Given the description of an element on the screen output the (x, y) to click on. 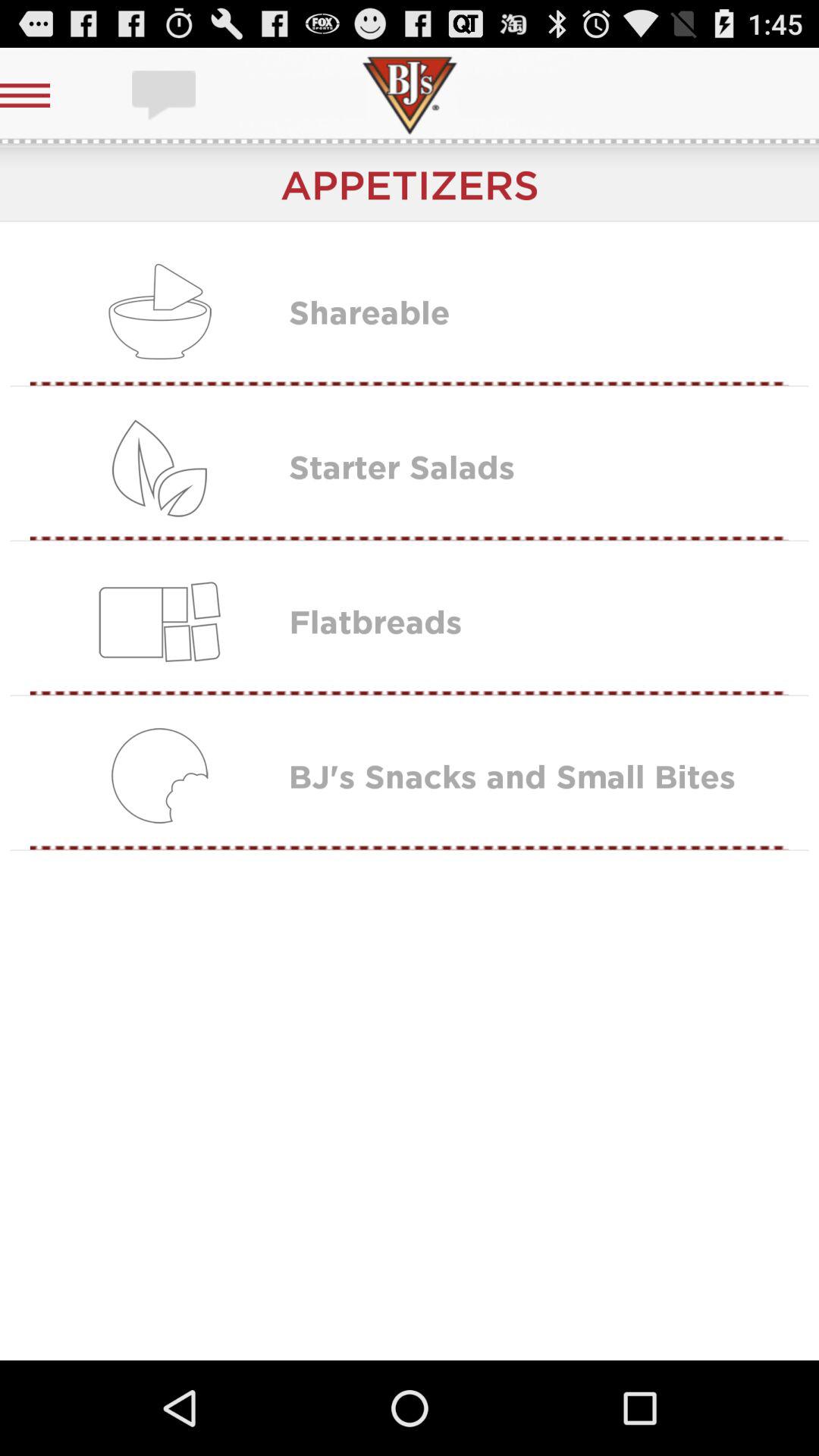
messages (165, 95)
